Given the description of an element on the screen output the (x, y) to click on. 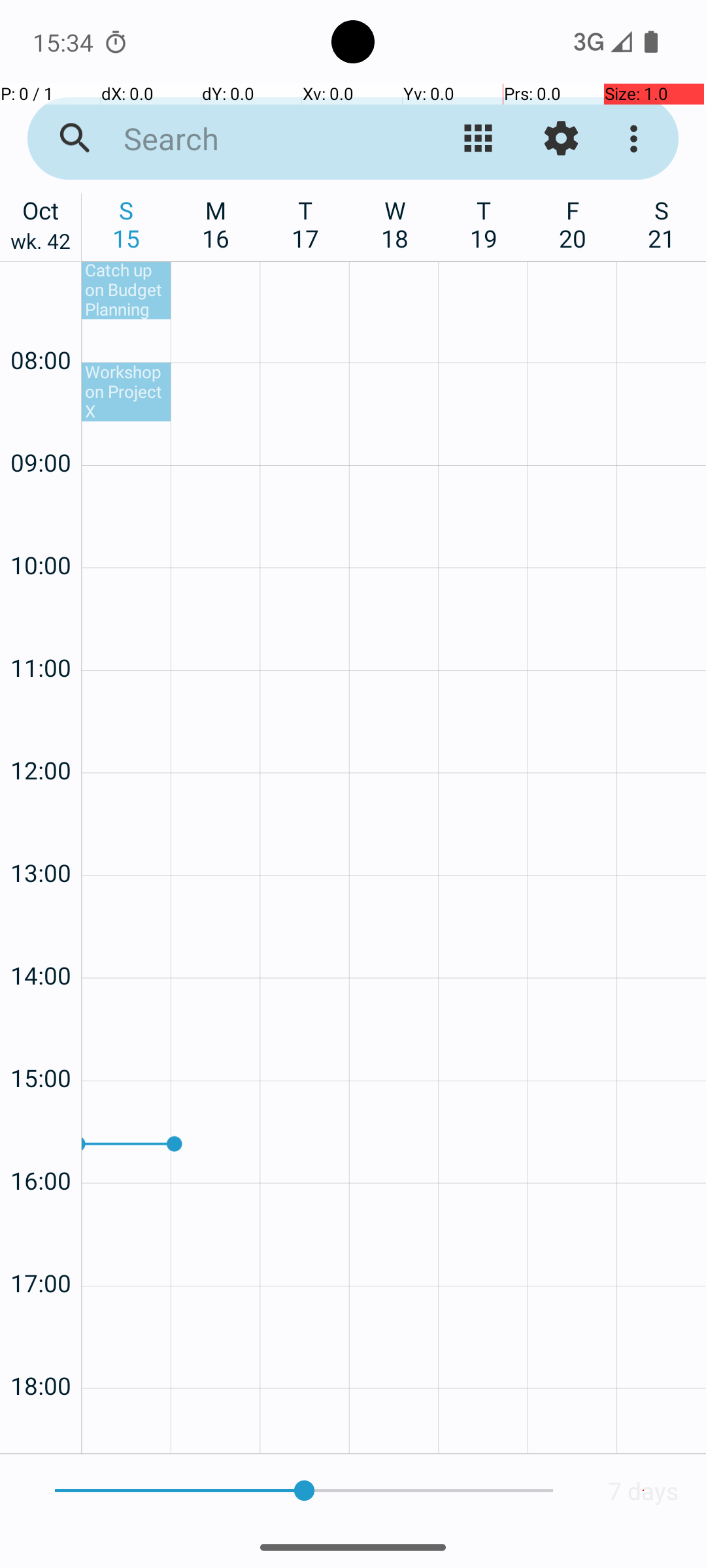
wk. 42 Element type: android.widget.TextView (40, 243)
M
16 Element type: android.widget.TextView (215, 223)
T
17 Element type: android.widget.TextView (305, 223)
W
18 Element type: android.widget.TextView (394, 223)
T
19 Element type: android.widget.TextView (483, 223)
F
20 Element type: android.widget.TextView (572, 223)
S
21 Element type: android.widget.TextView (661, 223)
